Given the description of an element on the screen output the (x, y) to click on. 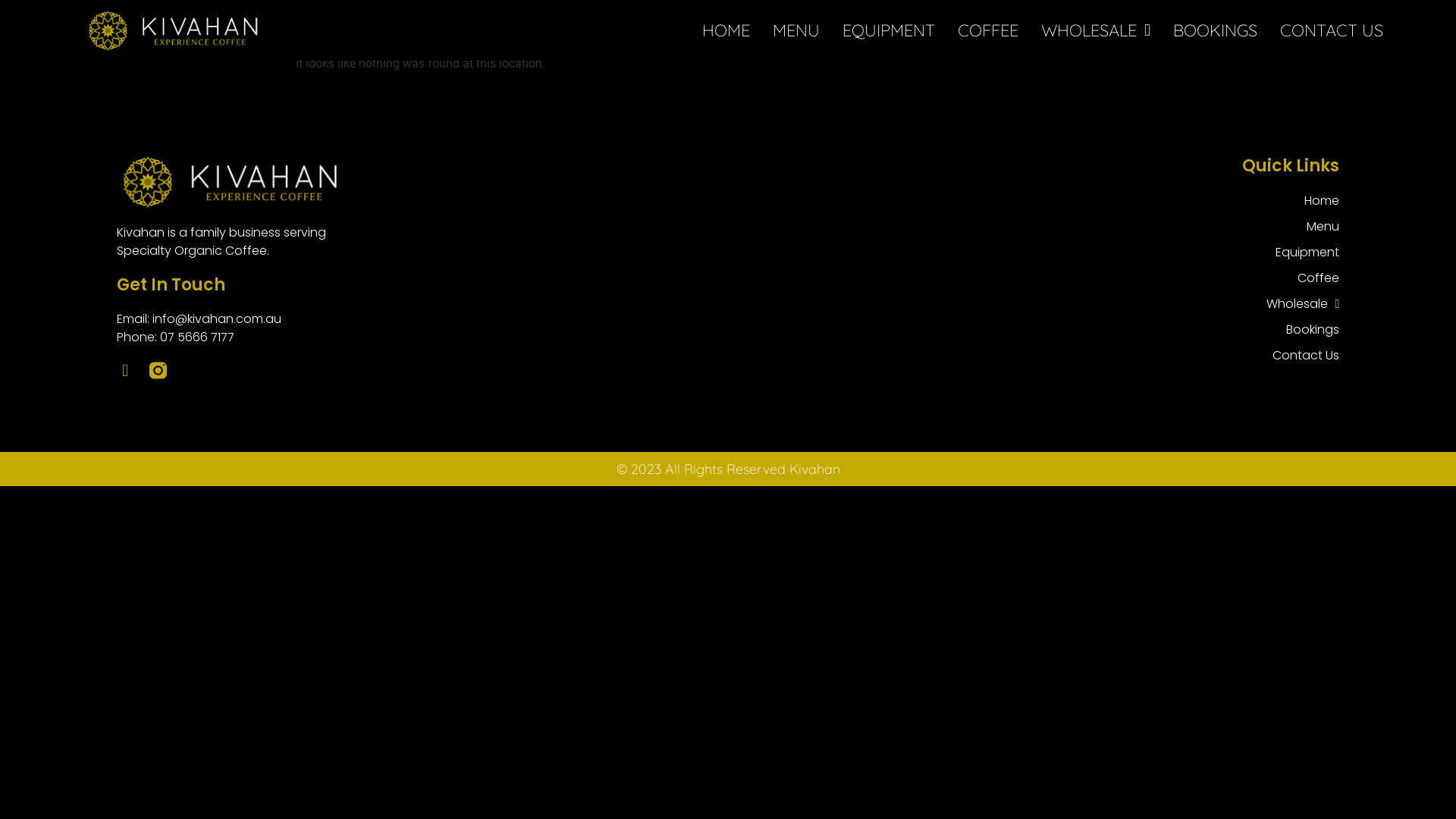
Contact Us Element type: text (1302, 355)
Email: info@kivahan.com.au Element type: text (357, 319)
COFFEE Element type: text (987, 30)
MENU Element type: text (795, 30)
EQUIPMENT Element type: text (888, 30)
WHOLESALE Element type: text (1095, 30)
Menu Element type: text (1302, 226)
HOME Element type: text (725, 30)
Bookings Element type: text (1302, 329)
BOOKINGS Element type: text (1215, 30)
Phone: 07 5666 7177 Element type: text (357, 337)
Wholesale Element type: text (1302, 303)
Home Element type: text (1302, 200)
Coffee Element type: text (1302, 278)
Equipment Element type: text (1302, 252)
CONTACT US Element type: text (1331, 30)
